Given the description of an element on the screen output the (x, y) to click on. 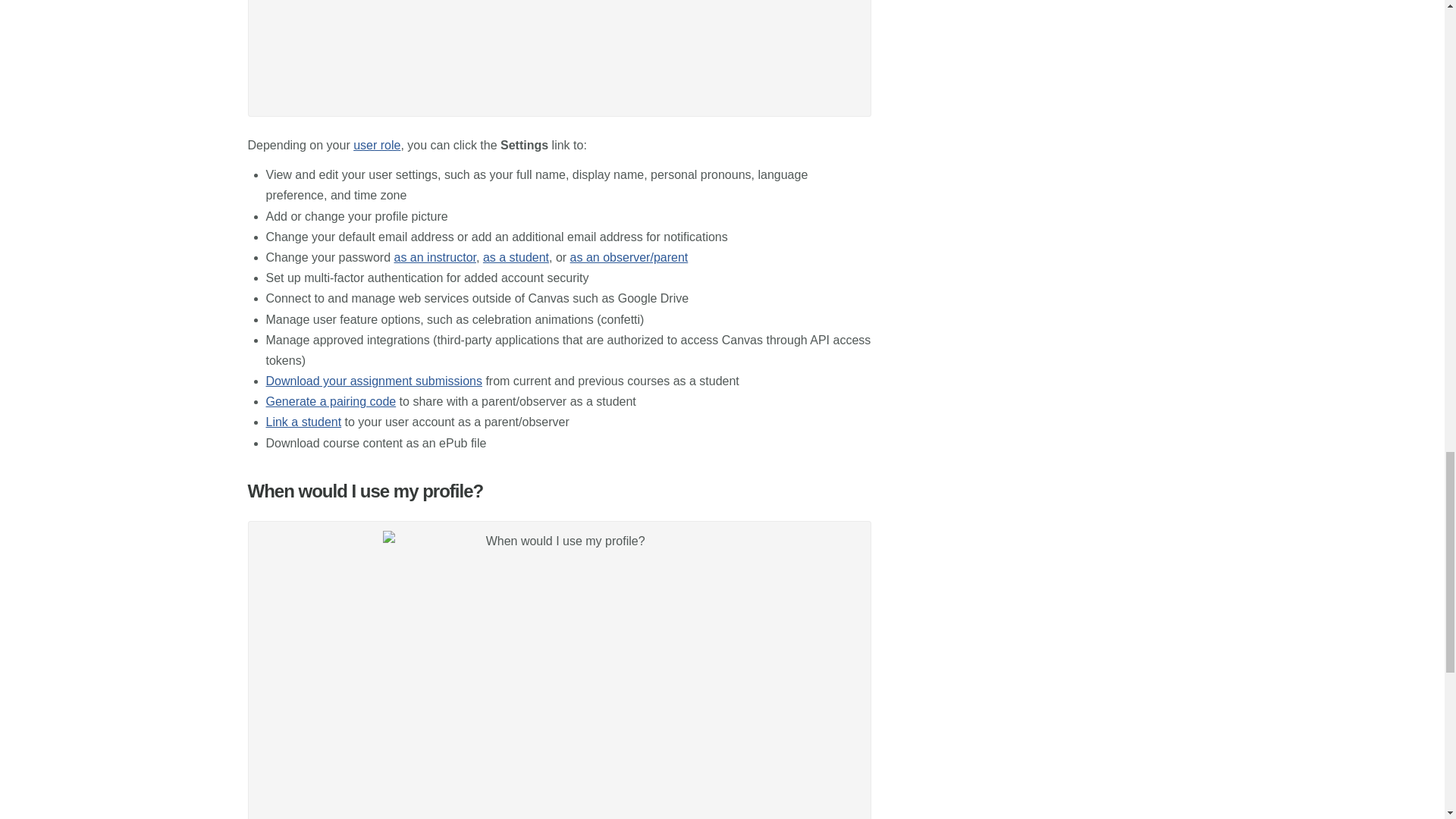
as an instructor (434, 256)
Link a student (302, 421)
Generate a pairing code (330, 400)
as a student (515, 256)
user role (376, 144)
Download your assignment submissions (372, 380)
